Given the description of an element on the screen output the (x, y) to click on. 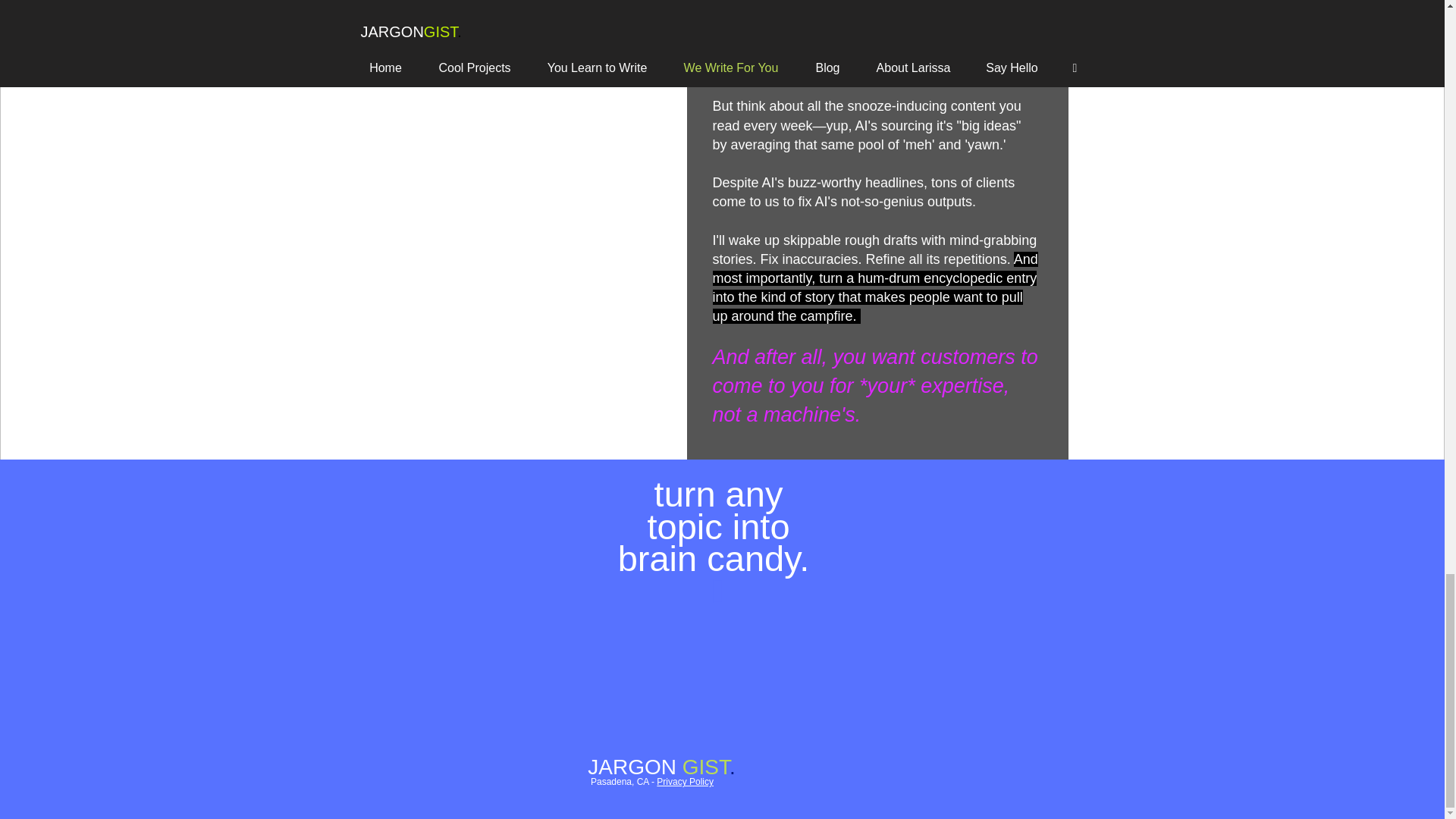
Pasadena, CA - Privacy Policy (652, 781)
